Given the description of an element on the screen output the (x, y) to click on. 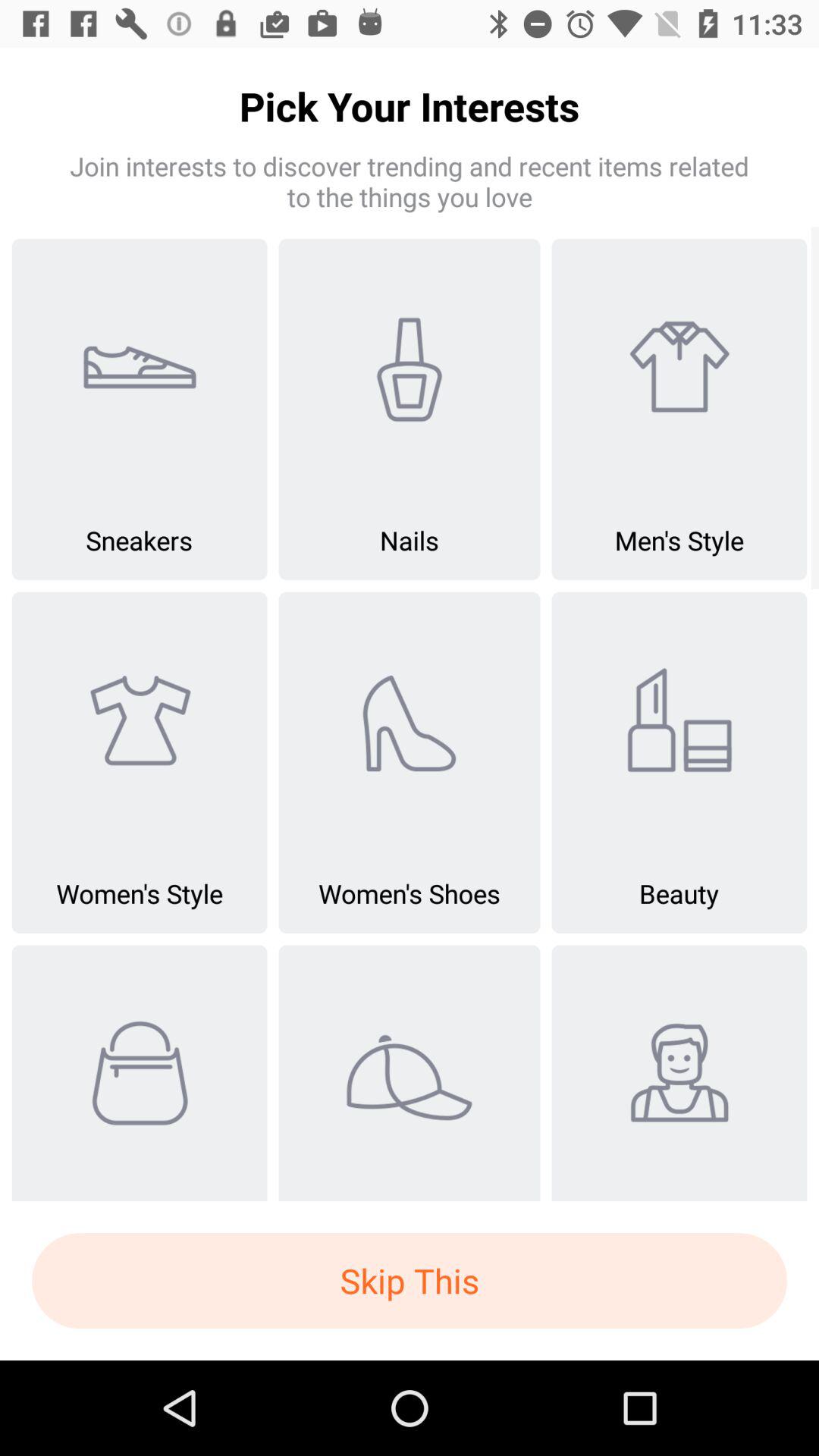
select the skip this icon (409, 1280)
